Given the description of an element on the screen output the (x, y) to click on. 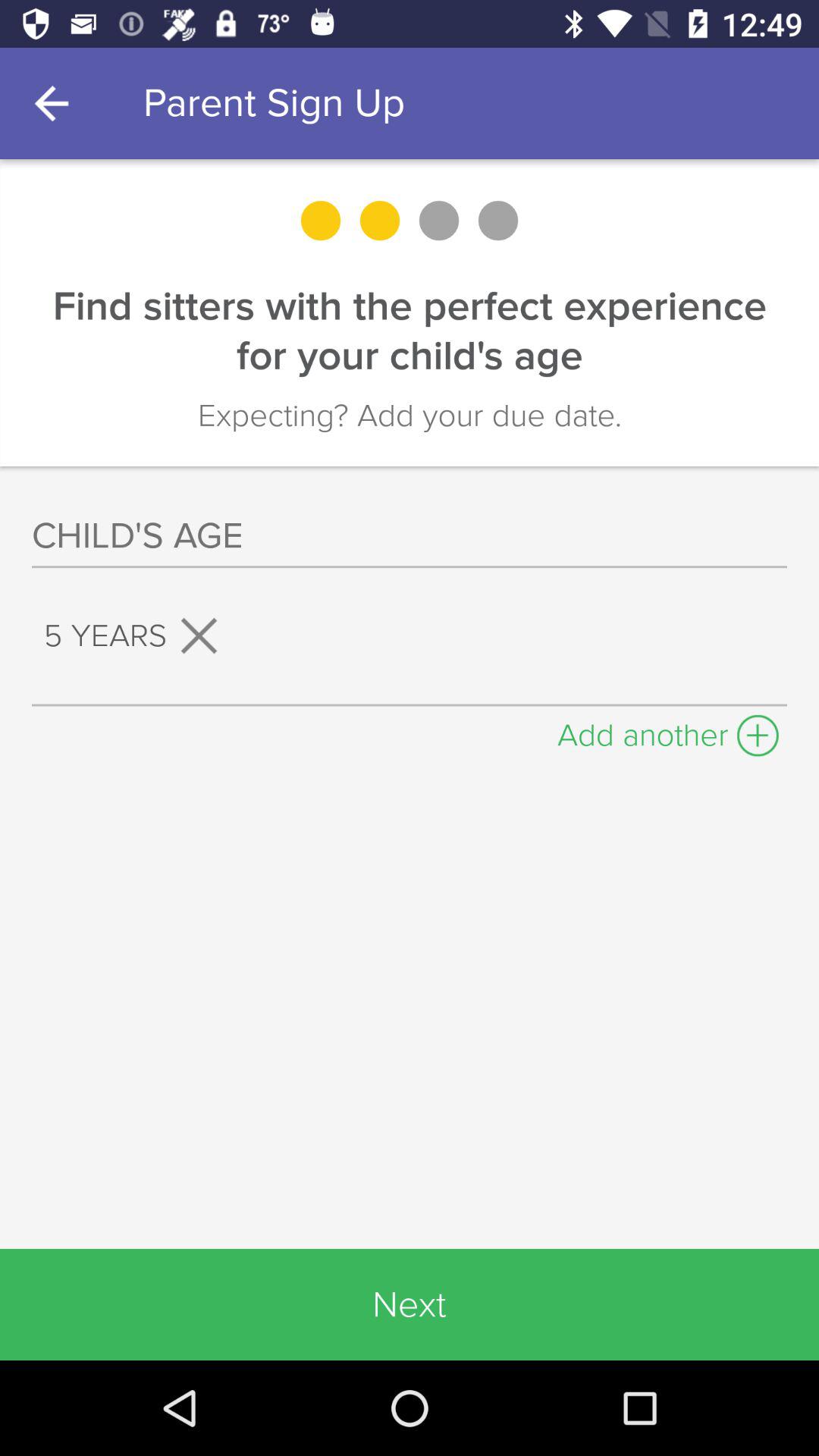
tap item to the left of parent sign up (55, 103)
